Given the description of an element on the screen output the (x, y) to click on. 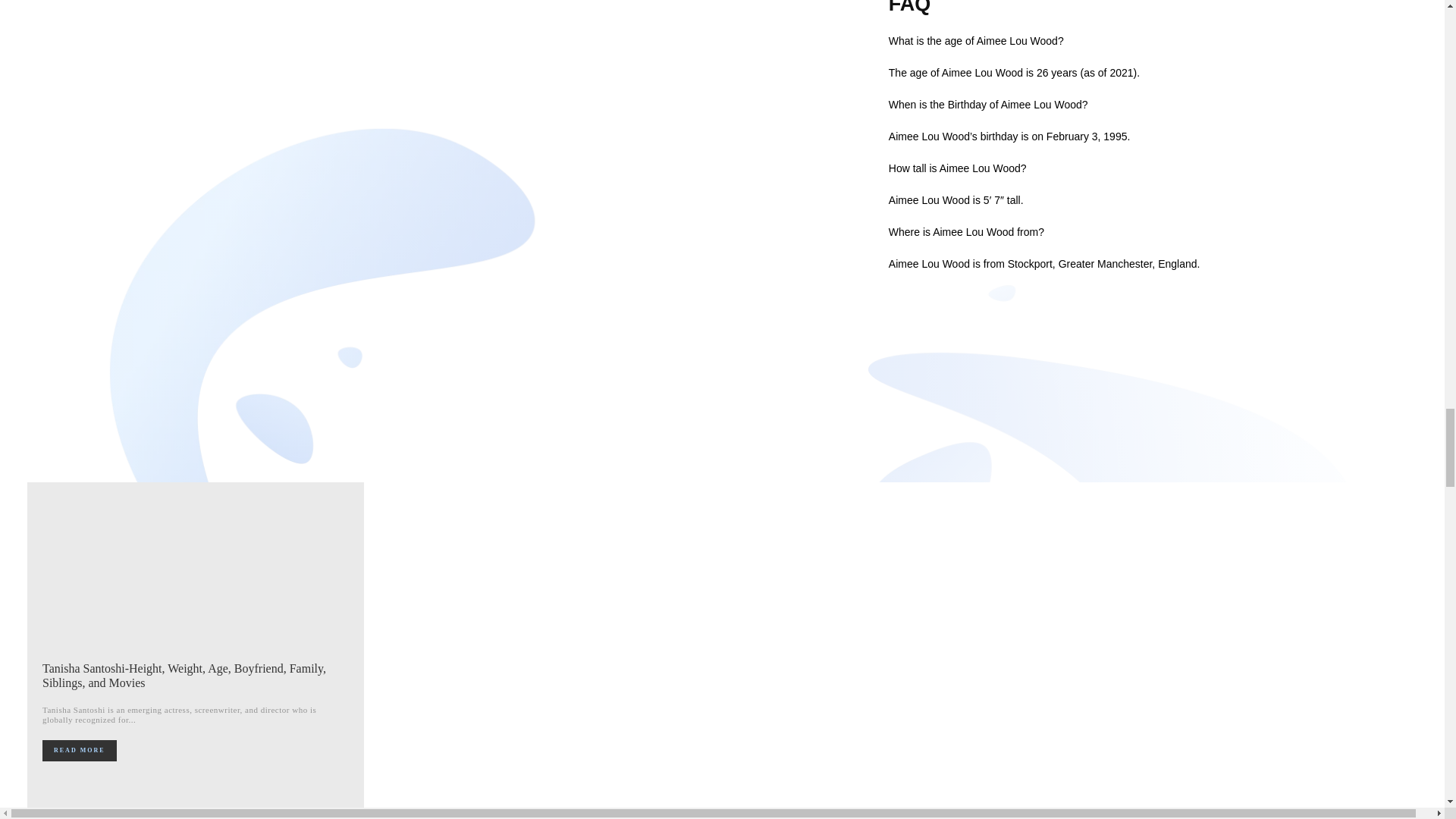
Read more (79, 750)
